Given the description of an element on the screen output the (x, y) to click on. 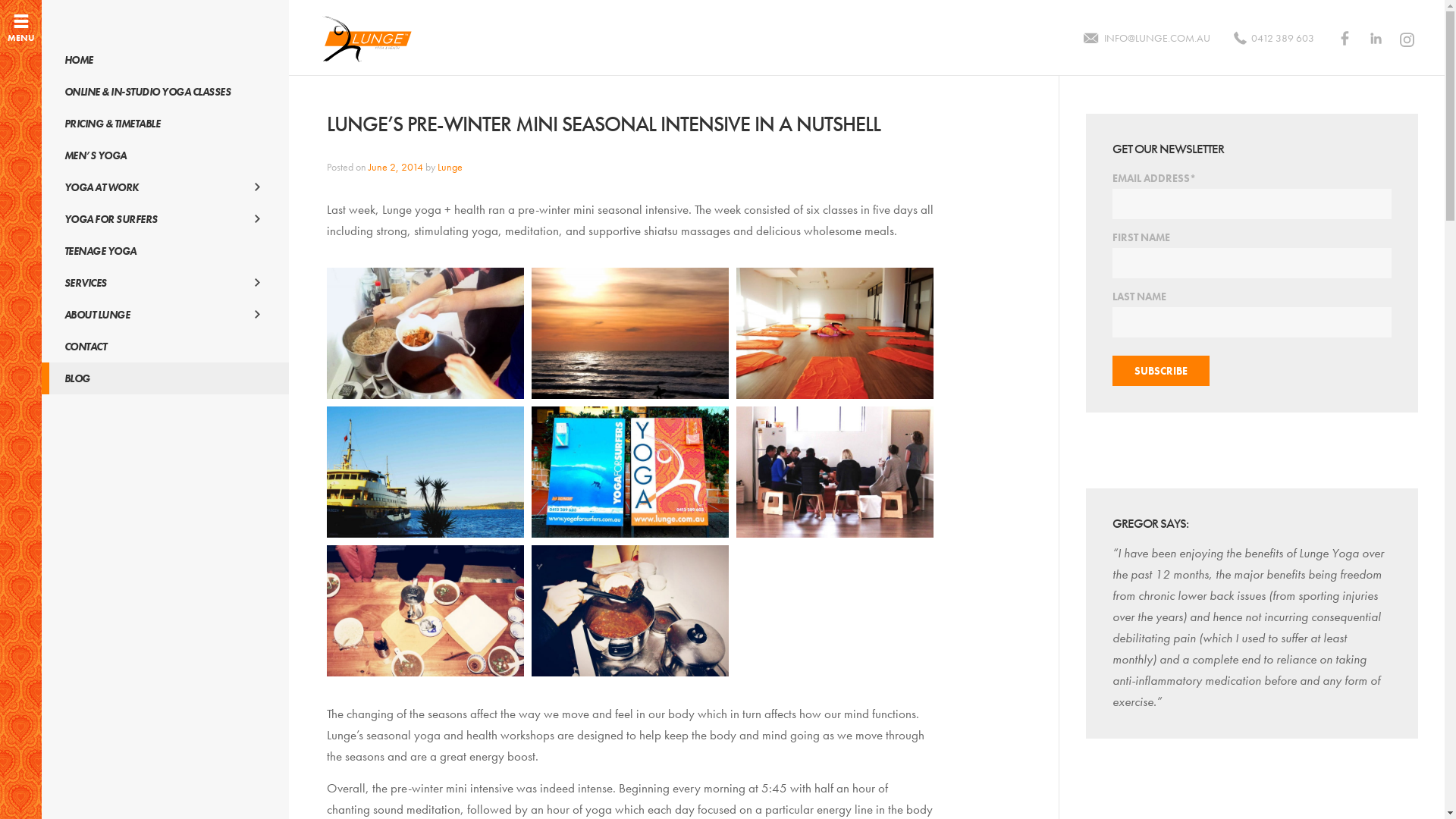
HOME Element type: text (164, 59)
YOGA FOR SURFERS Element type: text (164, 219)
ABOUT LUNGE Element type: text (164, 314)
TEENAGE YOGA Element type: text (164, 250)
INFO@LUNGE.COM.AU Element type: text (1145, 37)
Lunge Element type: text (449, 166)
YOGA AT WORK Element type: text (164, 187)
CONTACT Element type: text (164, 346)
LUNGE YOGA AND HEALTH Element type: text (365, 38)
2014-Pre-Winter-Mini-Intensive-Day1-Breaky Element type: hover (425, 333)
Subscribe Element type: text (1160, 370)
2014-Pre-Winter-Mini-Intensive-Day2_MorningSun Element type: hover (629, 333)
June 2, 2014 Element type: text (395, 166)
ONLINE & IN-STUDIO YOGA CLASSES Element type: text (164, 91)
BLOG Element type: text (164, 378)
0412 389 603 Element type: text (1272, 37)
SERVICES Element type: text (164, 282)
2014-Pre-Winter-Mini-Intensive-Day4-Signs Element type: hover (629, 472)
2014-Pre-Winter-Mini-Intensive-Day5-DinnerTable Element type: hover (425, 611)
2014-Pre-Winter-Mini-Intensive-Day3-Studio Element type: hover (834, 333)
PRICING & TIMETABLE Element type: text (164, 123)
2014-Pre-Winter-Mini-Intensive-Day4-Ferry Element type: hover (425, 472)
2014-Pre-Winter-Mini-Intensive-Day5-ServingDinner Element type: hover (629, 611)
2014-Pre-Winter-Mini-Intensive-Day5-Breakfast Element type: hover (834, 472)
